Given the description of an element on the screen output the (x, y) to click on. 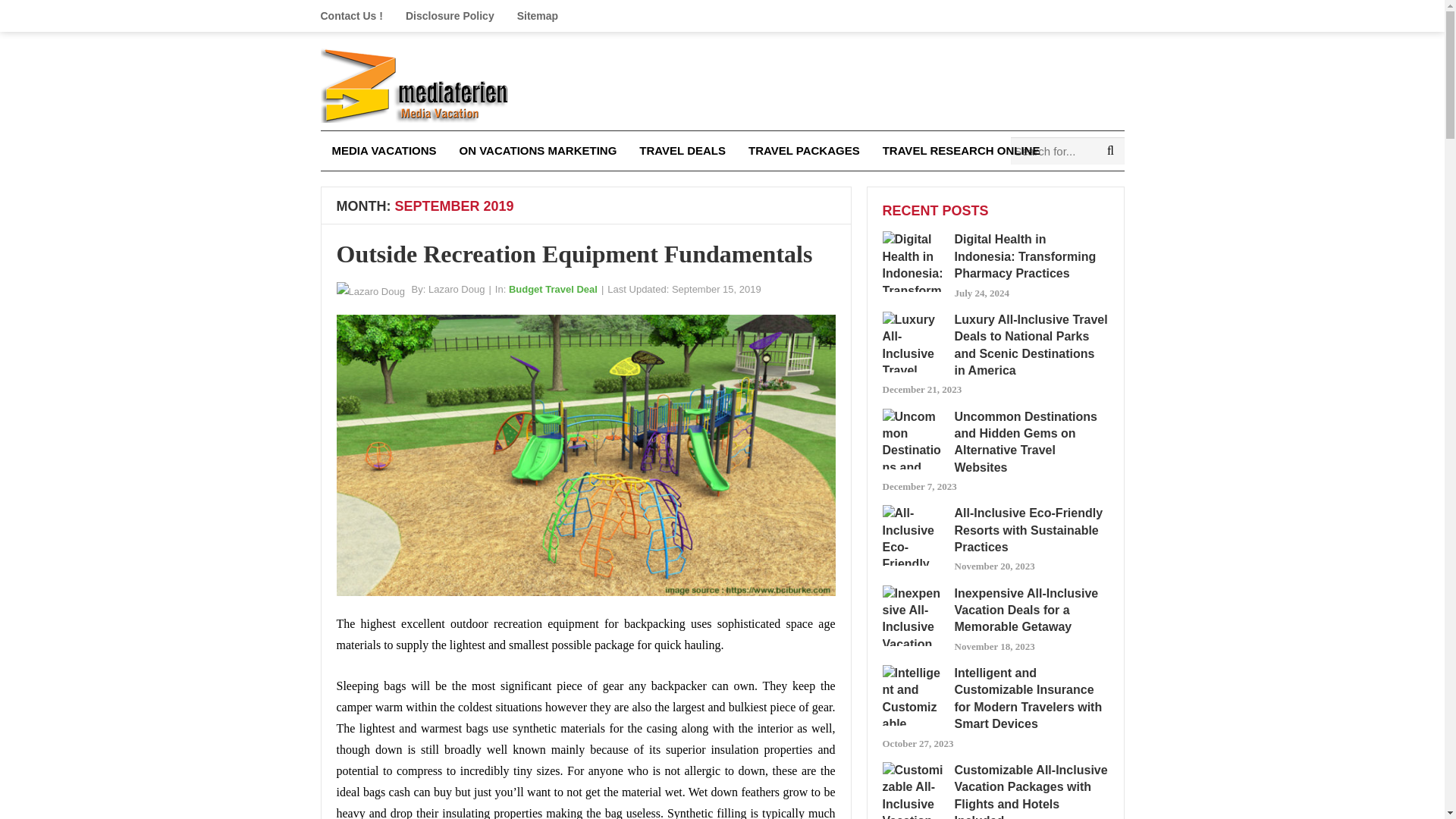
TRAVEL PACKAGES (803, 150)
Sitemap (537, 15)
Disclosure Policy (449, 15)
Outside Recreation Equipment Fundamentals (574, 253)
Lazaro Doug (456, 288)
TRAVEL RESEARCH ONLINE (960, 150)
MEDIA VACATIONS (383, 150)
Budget Travel Deal (552, 288)
ON VACATIONS MARKETING (538, 150)
TRAVEL DEALS (681, 150)
